Given the description of an element on the screen output the (x, y) to click on. 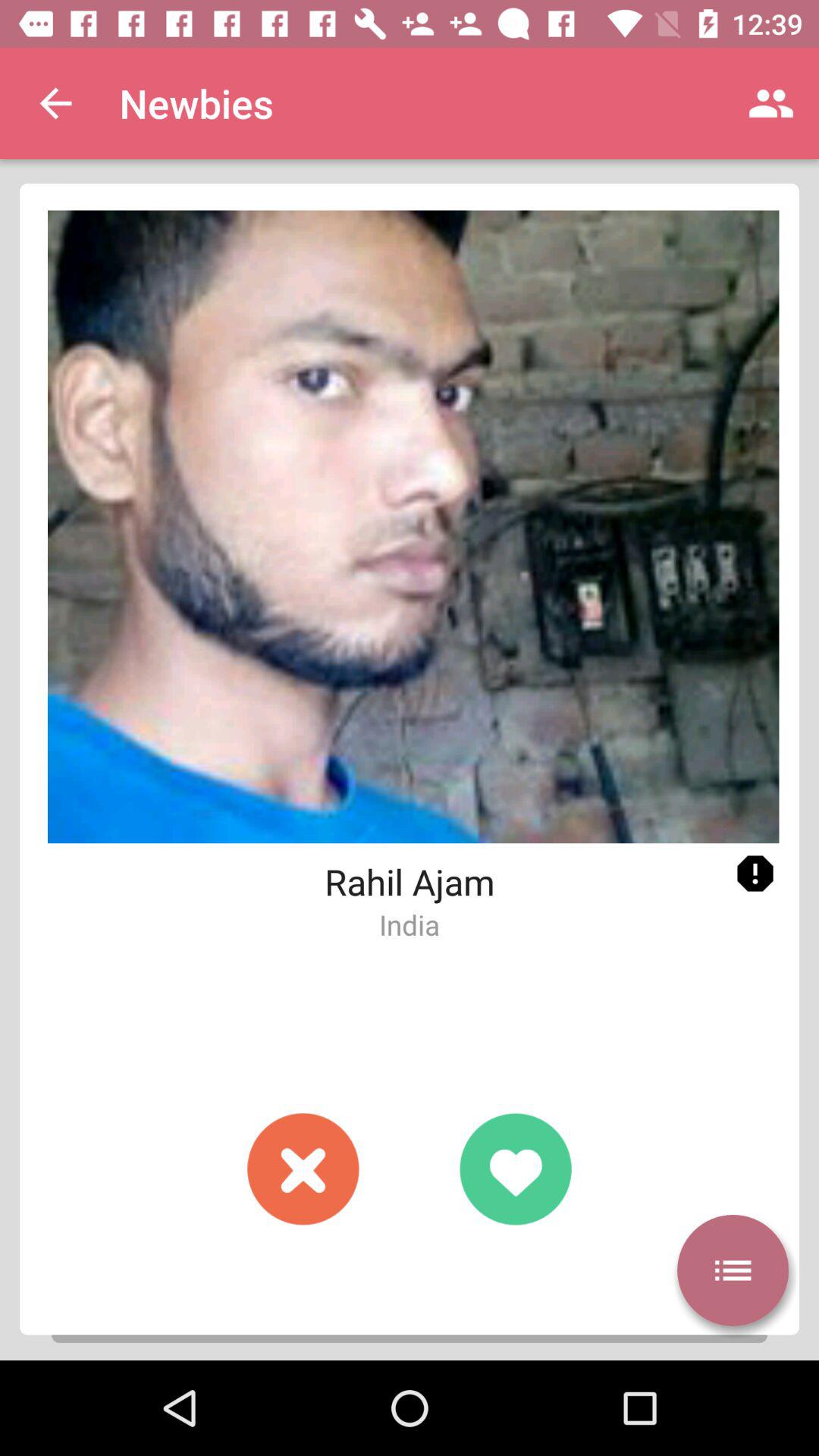
give a like (515, 1169)
